Given the description of an element on the screen output the (x, y) to click on. 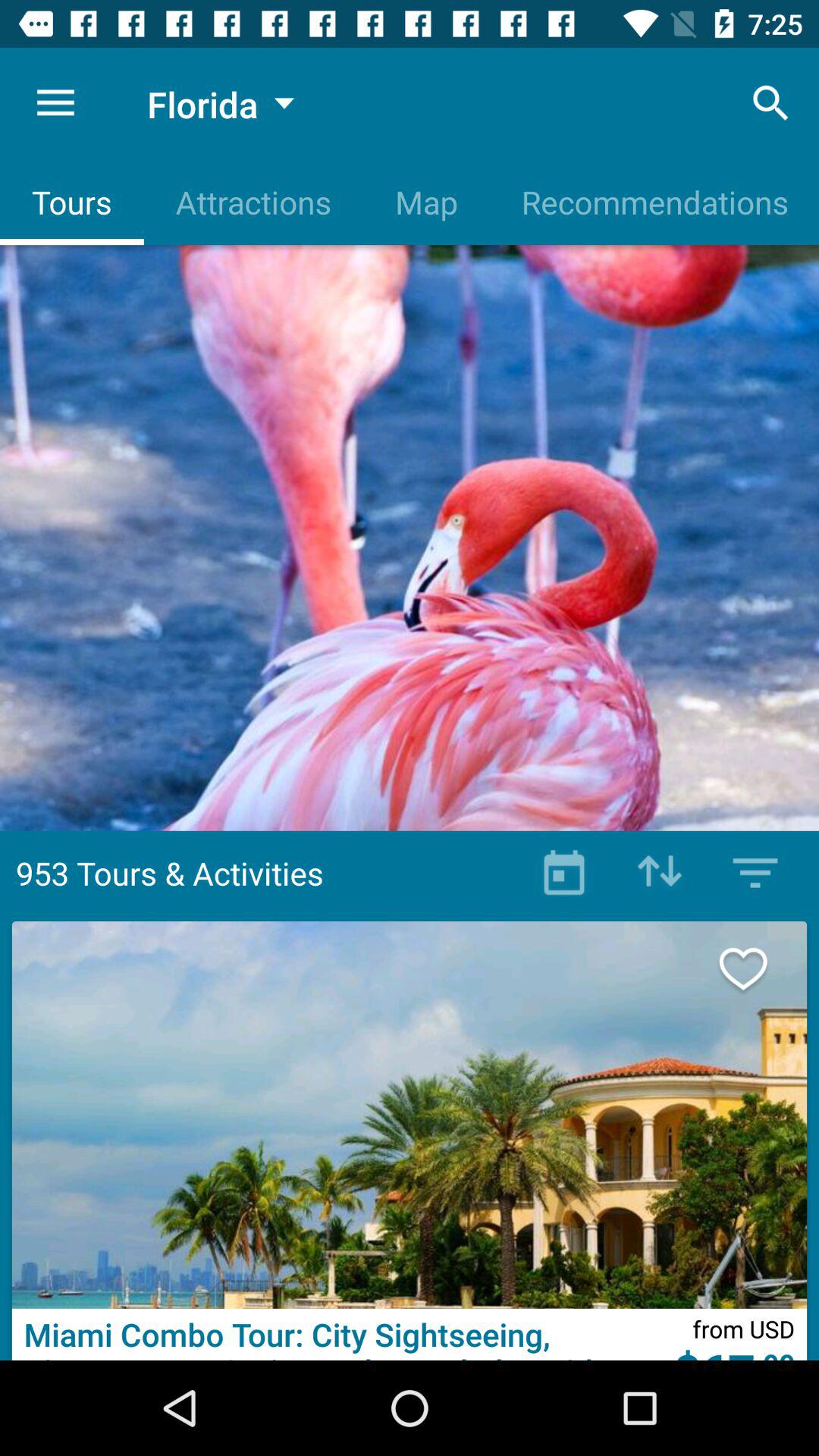
go to heart sympol buttton (759, 969)
